Given the description of an element on the screen output the (x, y) to click on. 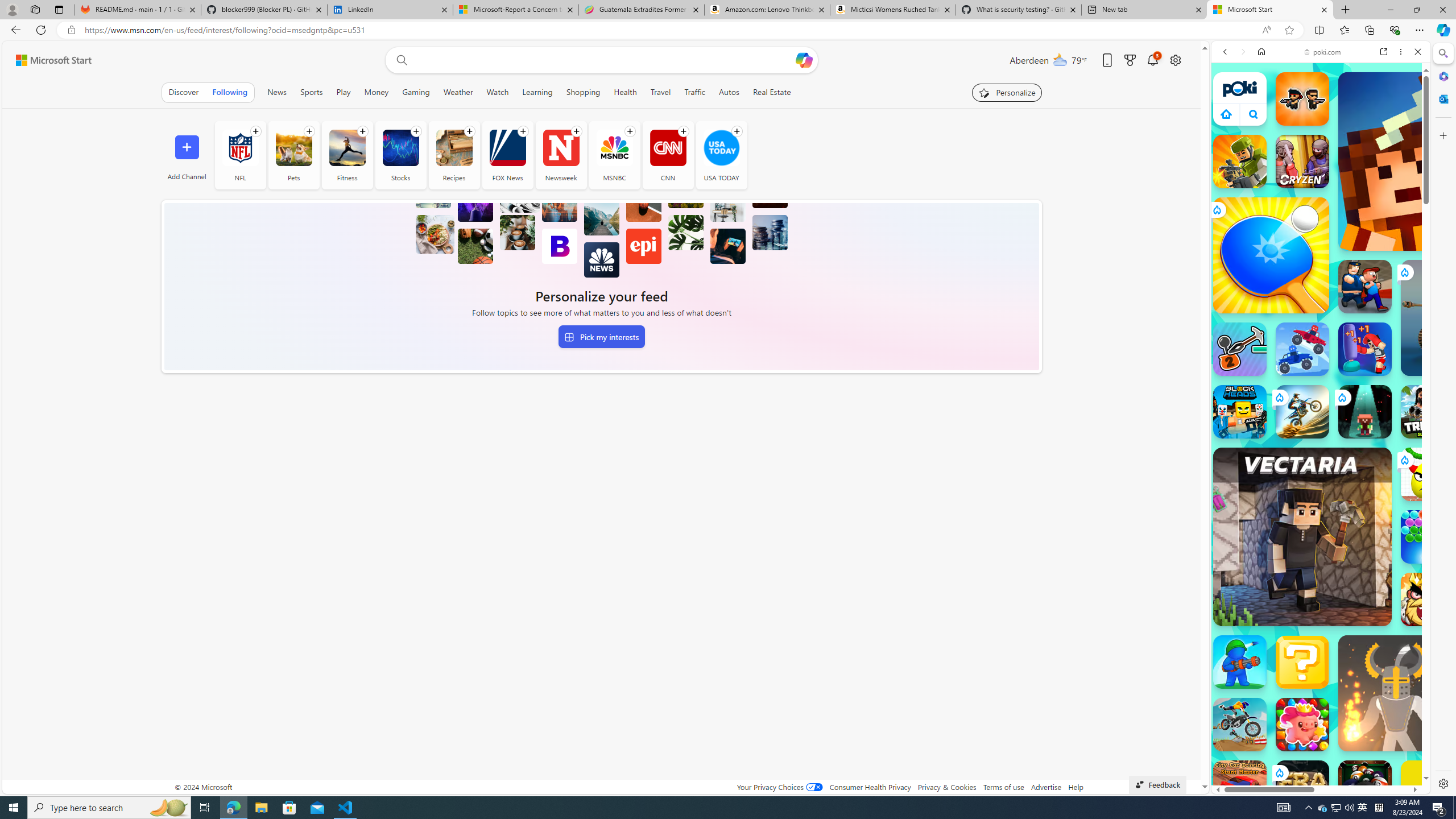
Sports Games (1320, 378)
Stickman Climb 2 Stickman Climb 2 (1239, 348)
Era: Evolution Era: Evolution (1302, 787)
Vectaria.io Vectaria.io (1301, 536)
USA TODAY (720, 155)
Quivershot (1364, 411)
Your Privacy Choices (779, 786)
